Given the description of an element on the screen output the (x, y) to click on. 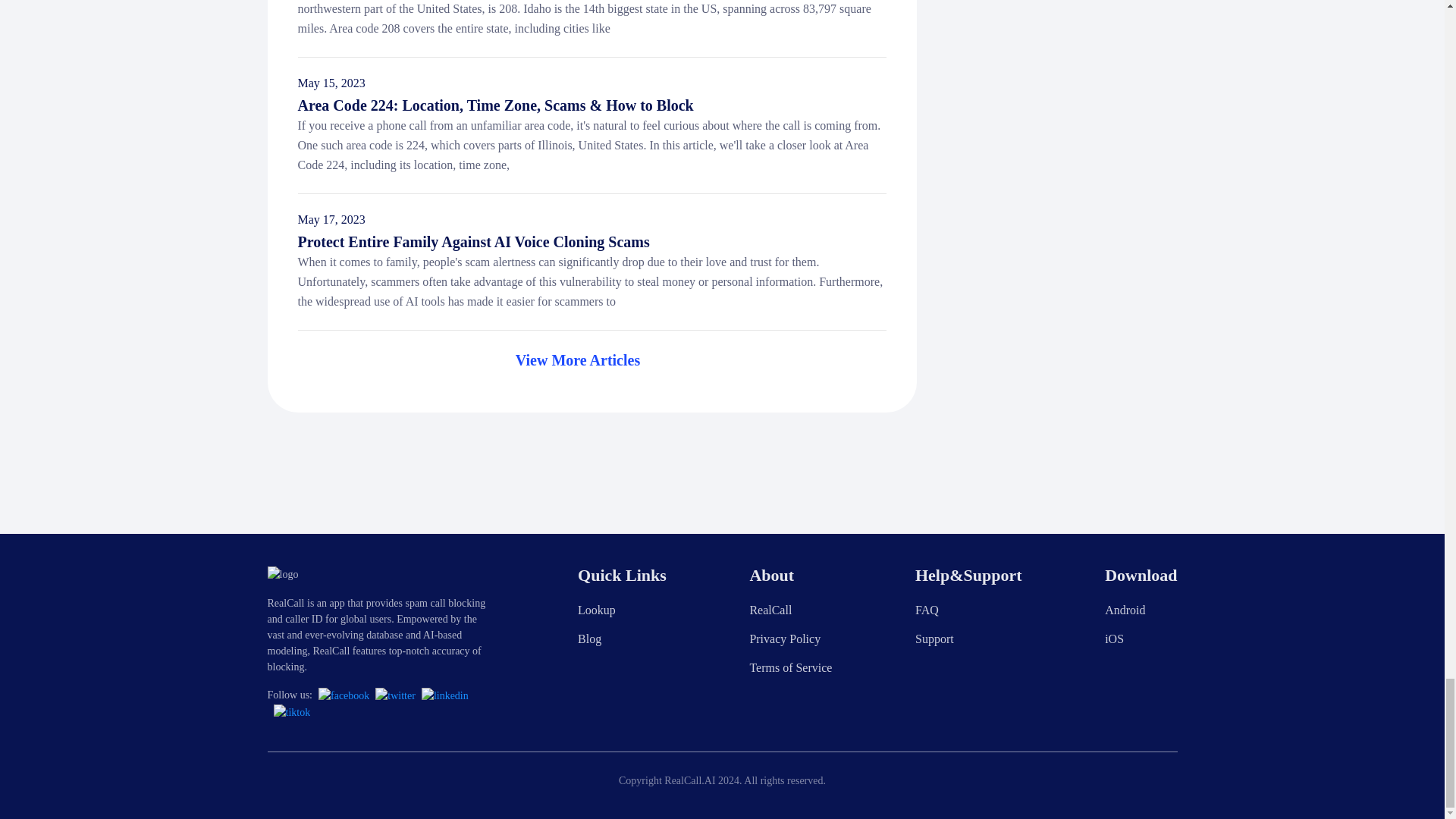
Terms of Service (790, 667)
Android (1124, 609)
Blog (589, 638)
Support (934, 638)
FAQ (927, 609)
Privacy Policy (785, 638)
RealCall (770, 609)
Lookup (596, 609)
iOS (1114, 638)
